Given the description of an element on the screen output the (x, y) to click on. 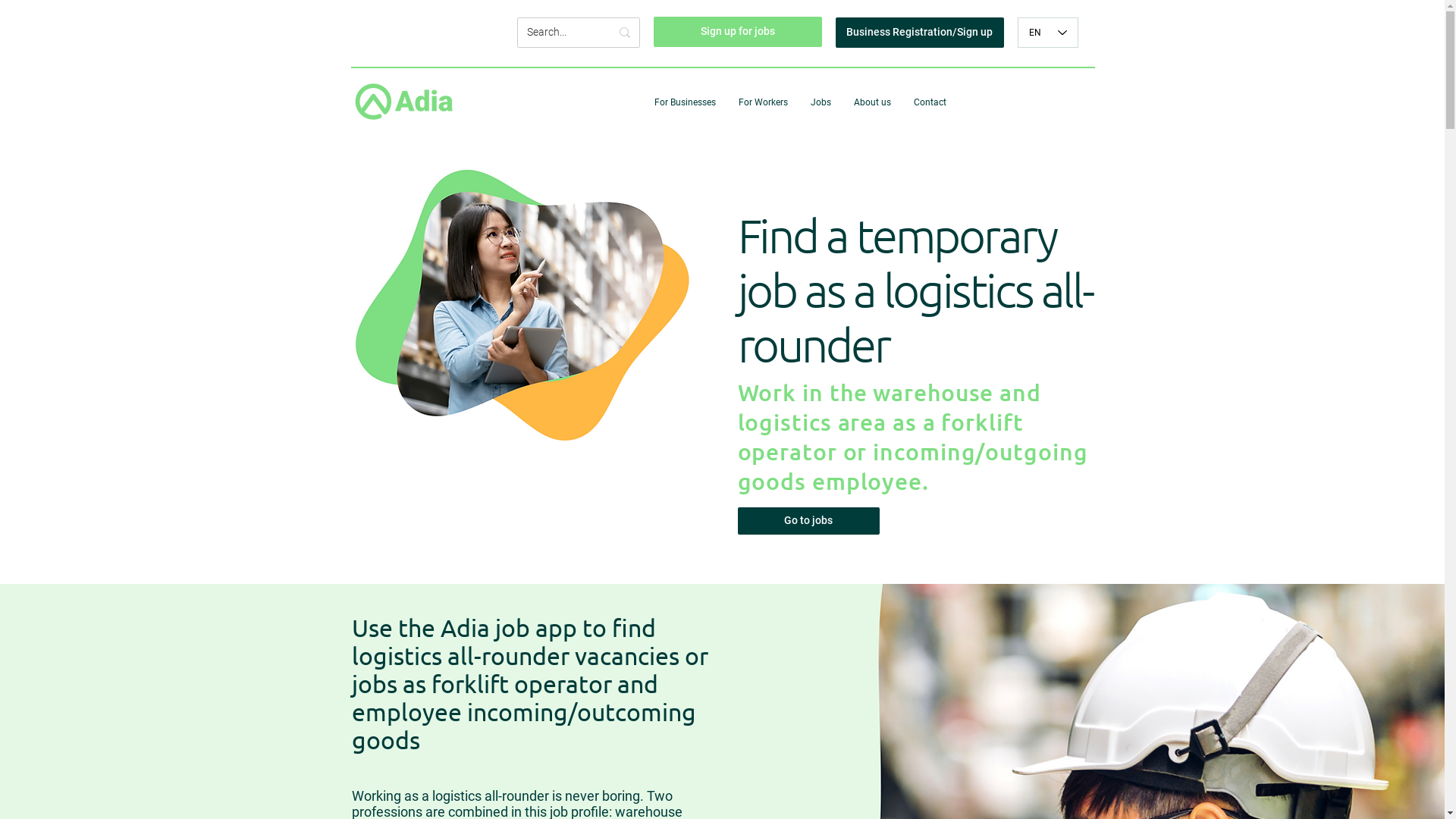
About us Element type: text (871, 102)
For Workers Element type: text (762, 102)
For Businesses Element type: text (685, 102)
Sign up for jobs Element type: text (737, 31)
Go to jobs Element type: text (807, 520)
Jobs Element type: text (820, 102)
Contact Element type: text (929, 102)
Business Registration/Sign up Element type: text (919, 32)
